Given the description of an element on the screen output the (x, y) to click on. 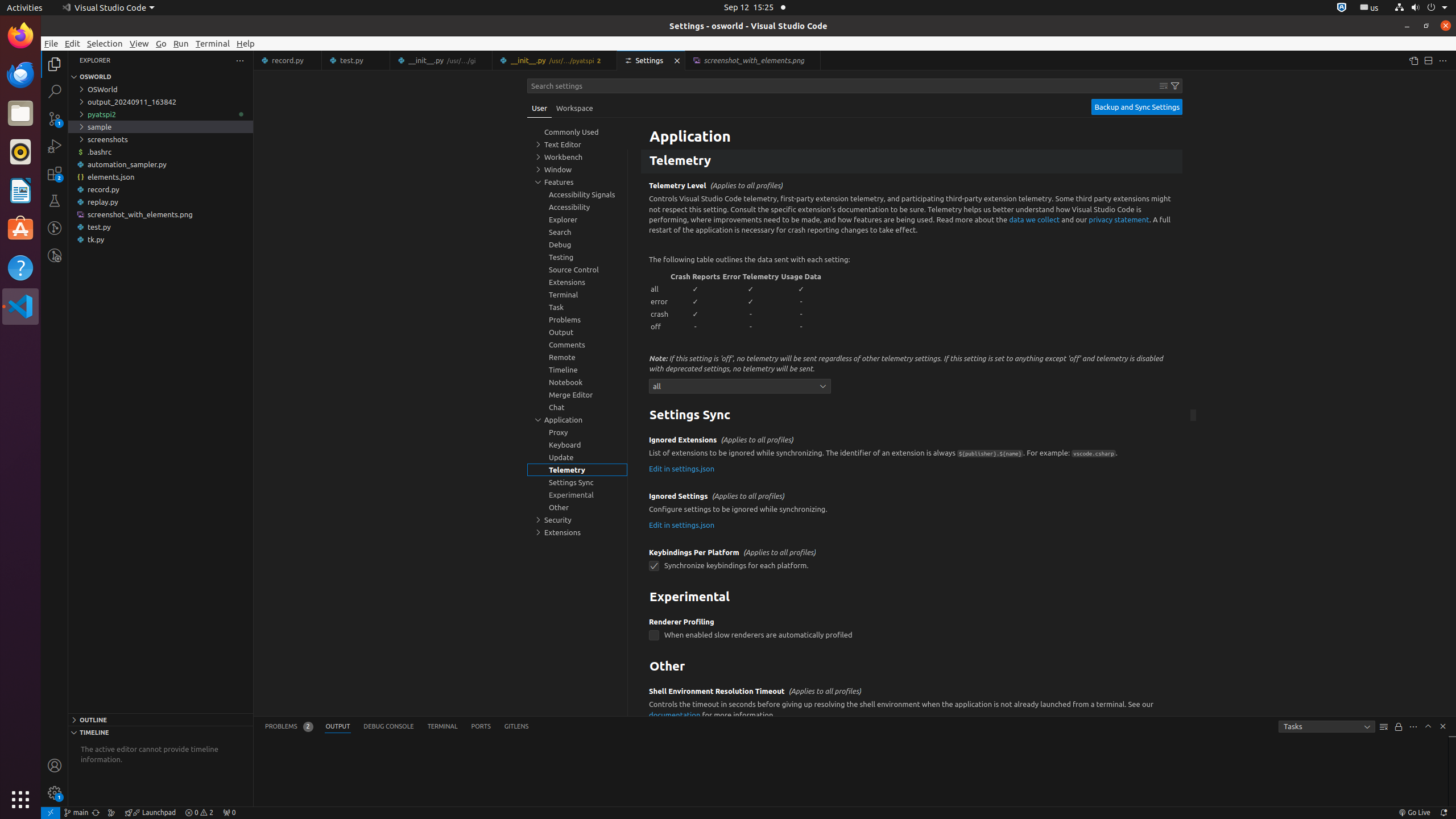
error Element type: table-cell (659, 301)
- Element type: table-cell (801, 301)
Backup and Sync Settings Element type: push-button (1136, 106)
Go Element type: push-button (161, 43)
